Given the description of an element on the screen output the (x, y) to click on. 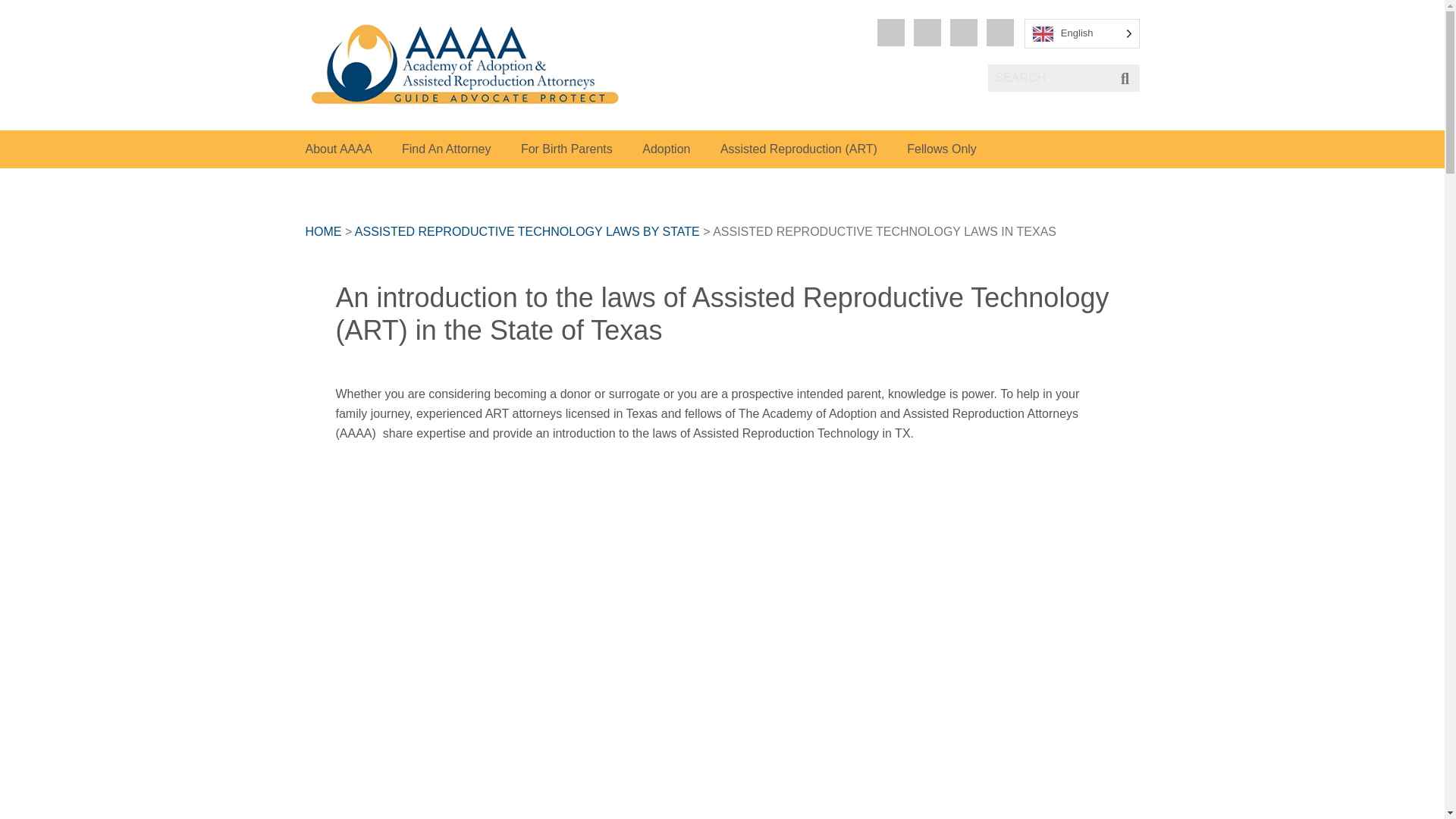
Adoption (666, 149)
Find An Attorney (445, 149)
About AAAA (337, 149)
For Birth Parents (566, 149)
